Given the description of an element on the screen output the (x, y) to click on. 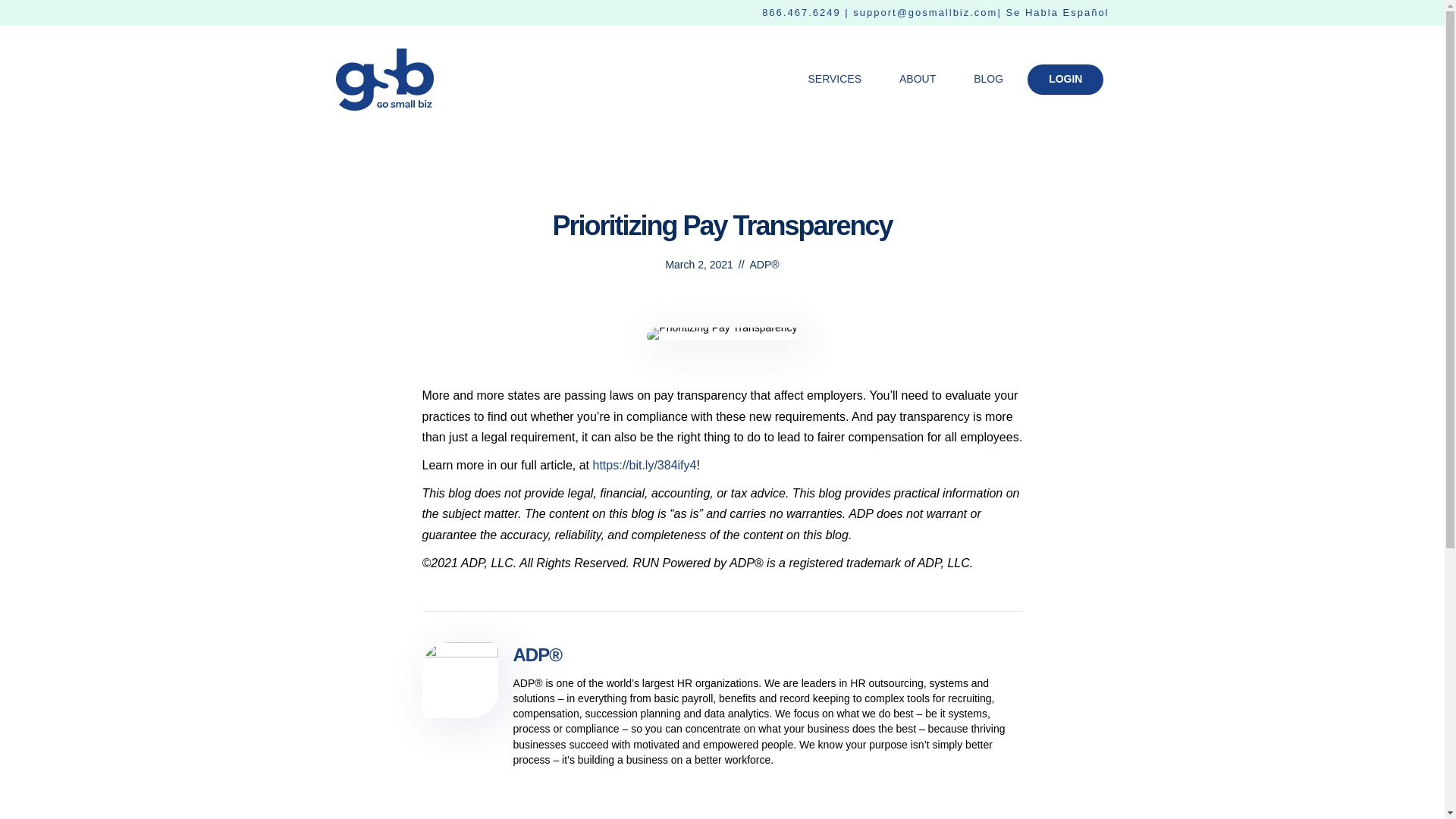
866.467.6249 (801, 12)
LOGIN (1065, 79)
SERVICES (834, 79)
ABOUT (917, 79)
Prioritizing Pay Transparency (721, 333)
BLOG (988, 79)
